Given the description of an element on the screen output the (x, y) to click on. 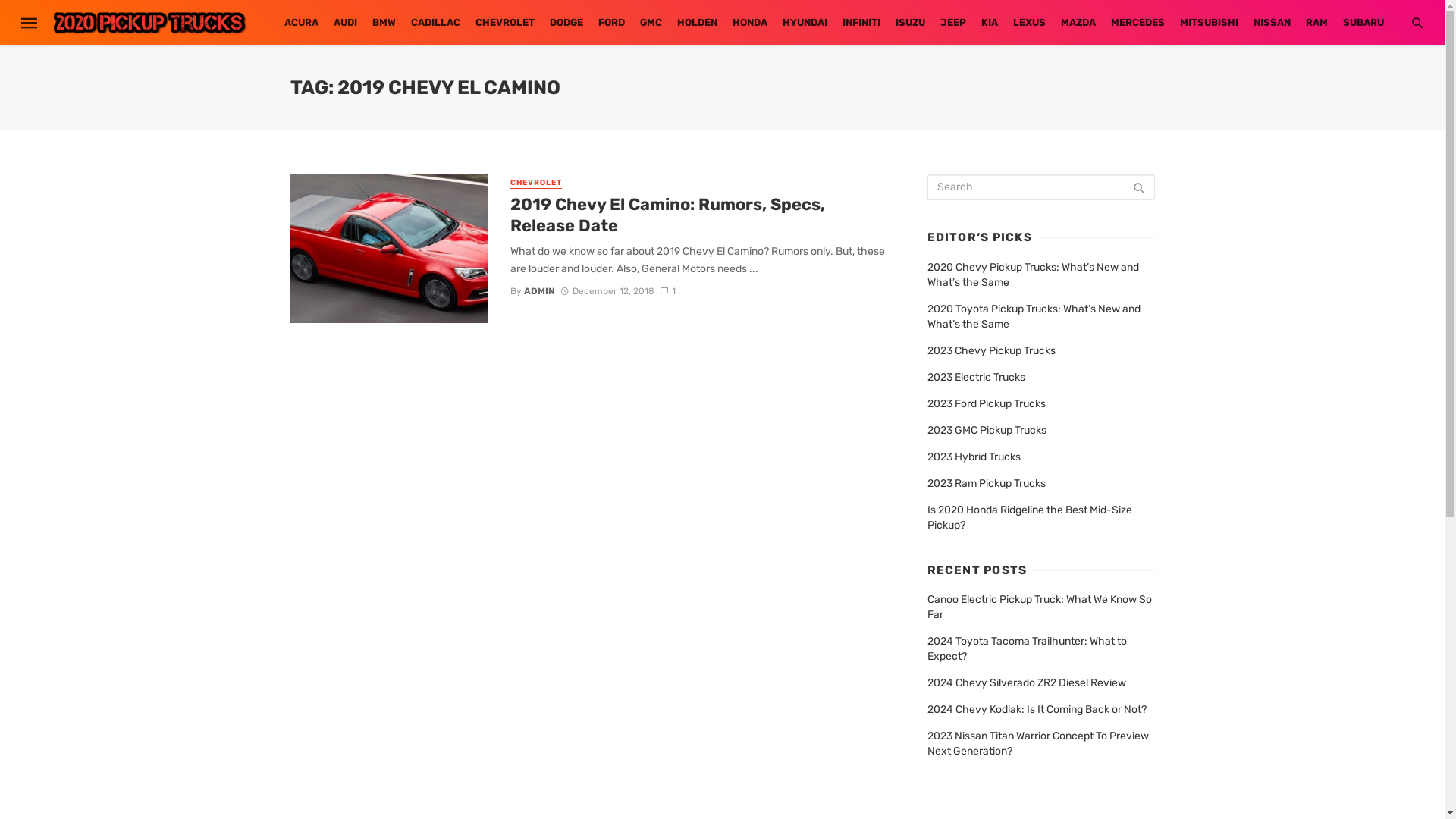
DODGE Element type: text (565, 22)
JEEP Element type: text (952, 22)
BMW Element type: text (383, 22)
CADILLAC Element type: text (435, 22)
HONDA Element type: text (749, 22)
HYUNDAI Element type: text (804, 22)
INFINITI Element type: text (860, 22)
ADMIN Element type: text (539, 290)
AUDI Element type: text (345, 22)
HOLDEN Element type: text (696, 22)
2019 Chevy El Camino: Rumors, Specs, Release Date Element type: text (699, 215)
2023 Chevy Pickup Trucks Element type: text (990, 350)
GMC Element type: text (650, 22)
MAZDA Element type: text (1077, 22)
2023 GMC Pickup Trucks Element type: text (985, 430)
ISUZU Element type: text (909, 22)
NISSAN Element type: text (1271, 22)
RAM Element type: text (1316, 22)
1 Element type: text (667, 290)
2023 Ram Pickup Trucks Element type: text (985, 483)
2024 Chevy Kodiak: Is It Coming Back or Not? Element type: text (1035, 709)
Canoo Electric Pickup Truck: What We Know So Far Element type: text (1040, 607)
CHEVROLET Element type: text (535, 182)
ACURA Element type: text (300, 22)
KIA Element type: text (989, 22)
FORD Element type: text (610, 22)
2024 Chevy Silverado ZR2 Diesel Review Element type: text (1025, 682)
2023 Ford Pickup Trucks Element type: text (985, 403)
2023 Hybrid Trucks Element type: text (972, 456)
Is 2020 Honda Ridgeline the Best Mid-Size Pickup? Element type: text (1040, 517)
SUBARU Element type: text (1362, 22)
2023 Electric Trucks Element type: text (975, 377)
MERCEDES Element type: text (1136, 22)
MITSUBISHI Element type: text (1208, 22)
2024 Toyota Tacoma Trailhunter: What to Expect? Element type: text (1040, 648)
LEXUS Element type: text (1029, 22)
CHEVROLET Element type: text (504, 22)
